Given the description of an element on the screen output the (x, y) to click on. 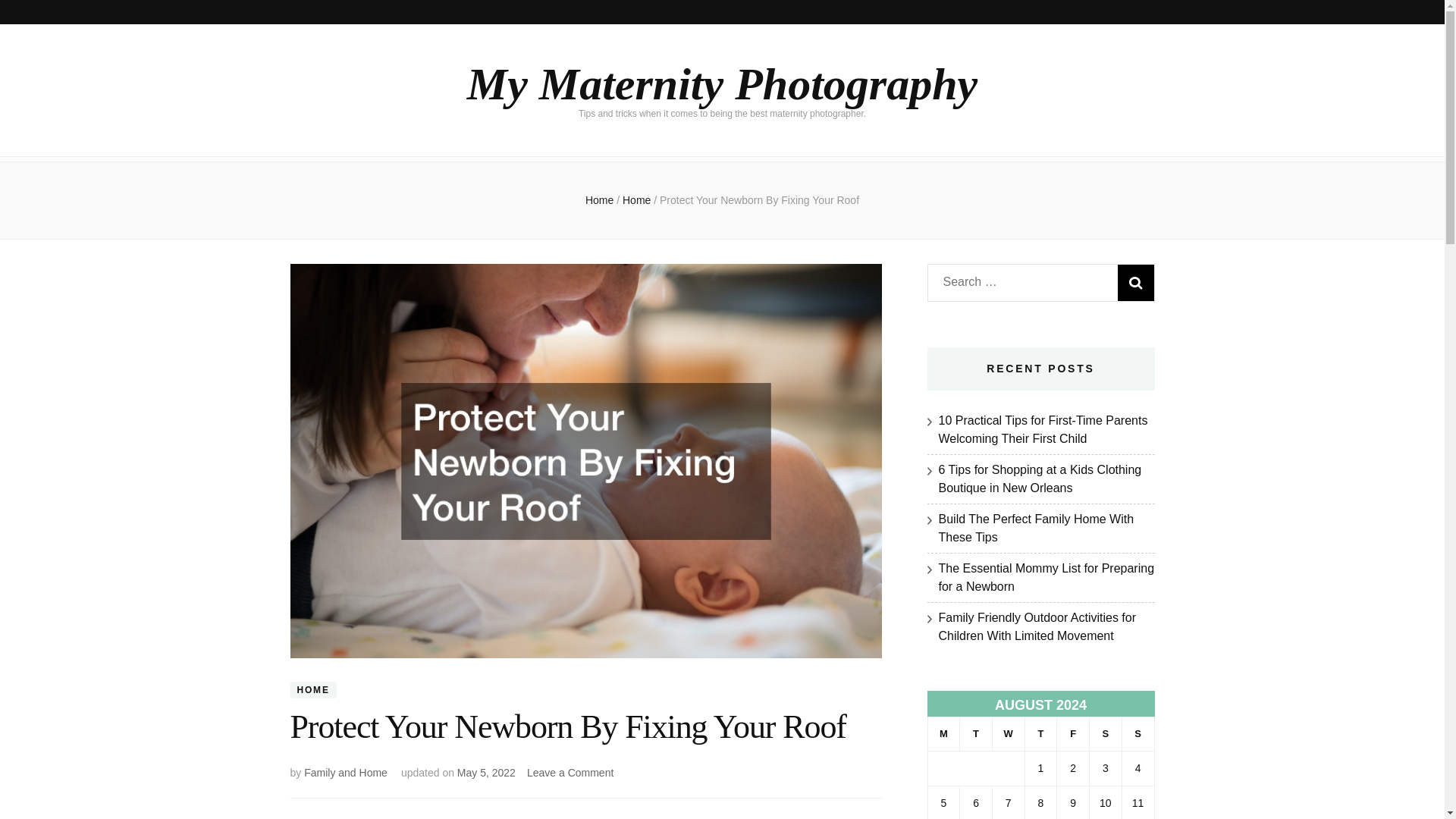
HOME (312, 689)
Family and Home (345, 772)
Friday (1073, 734)
Thursday (1041, 734)
Sunday (1137, 734)
Saturday (569, 772)
Protect Your Newborn By Fixing Your Roof (1105, 734)
The Essential Mommy List for Preparing for a Newborn (759, 200)
